Given the description of an element on the screen output the (x, y) to click on. 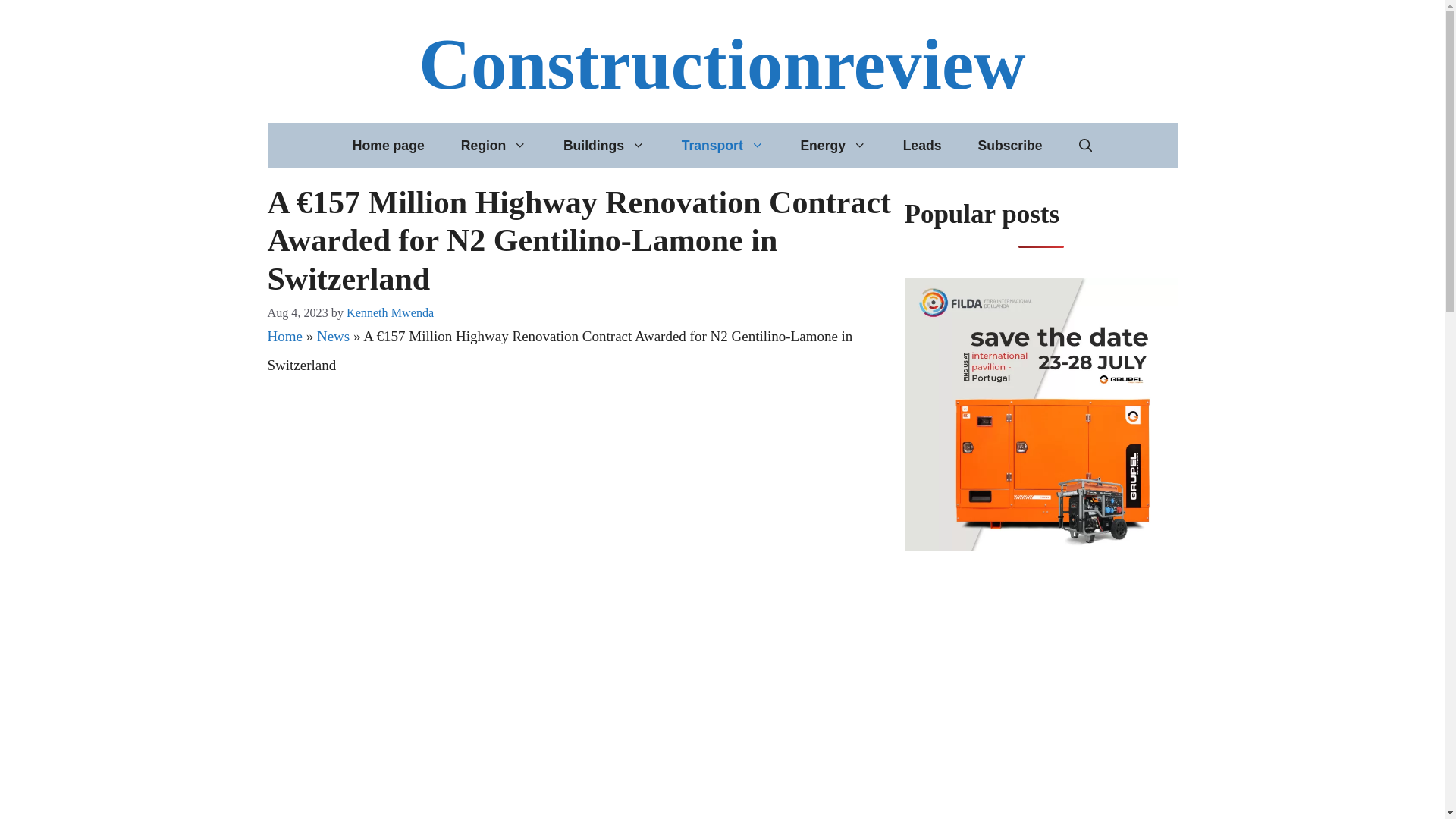
Energy (832, 145)
Buildings (603, 145)
Subscribe (1009, 145)
Region (493, 145)
View all posts by Kenneth Mwenda (389, 312)
Home page (388, 145)
Constructionreview (722, 64)
Leads (922, 145)
Transport (723, 145)
